Given the description of an element on the screen output the (x, y) to click on. 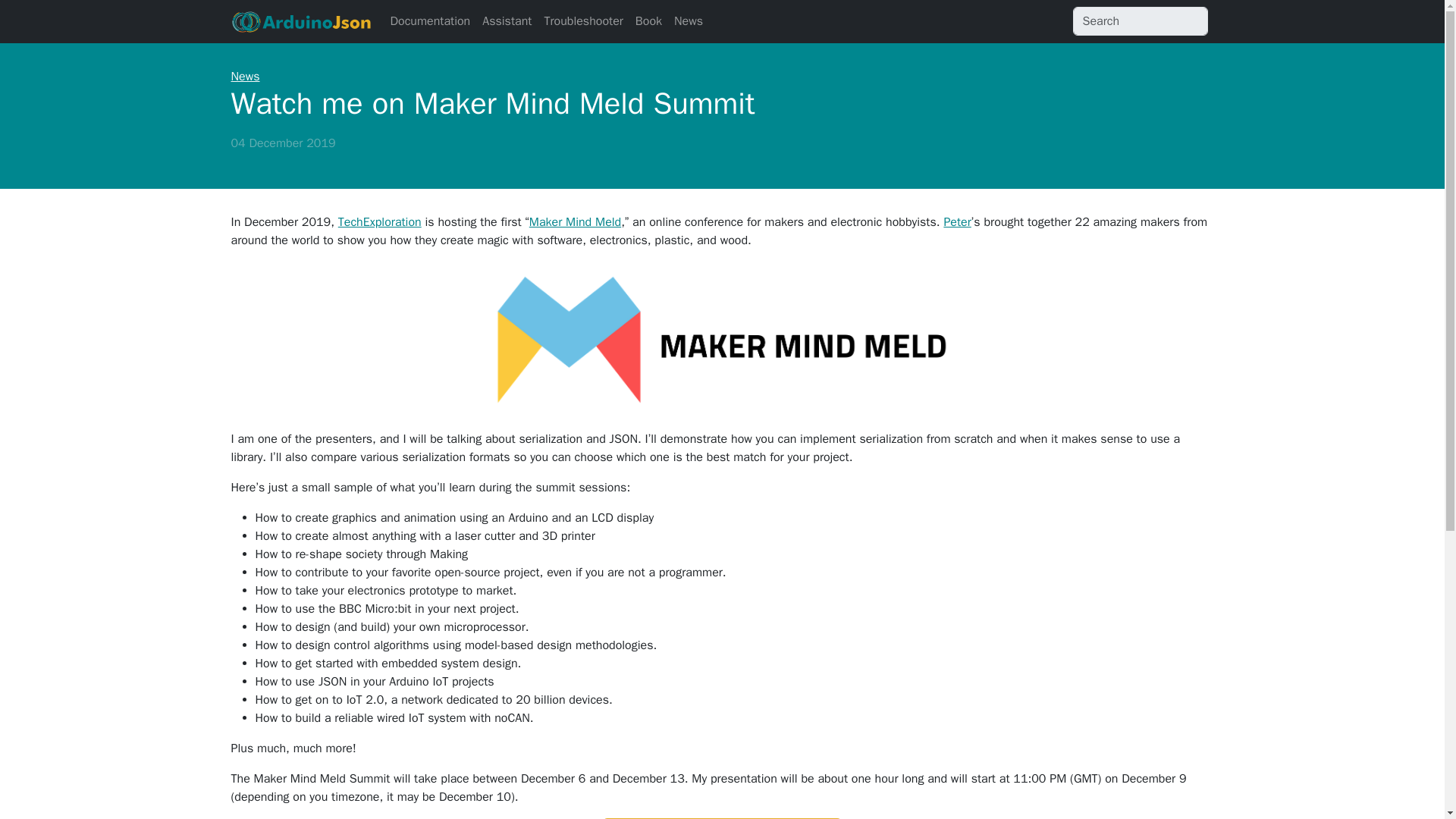
TechExploration (379, 222)
Documentation (430, 20)
Assistant (506, 20)
News (688, 20)
News (244, 76)
Maker Mind Meld (575, 222)
Troubleshooter (582, 20)
Peter (957, 222)
Book (648, 20)
